Given the description of an element on the screen output the (x, y) to click on. 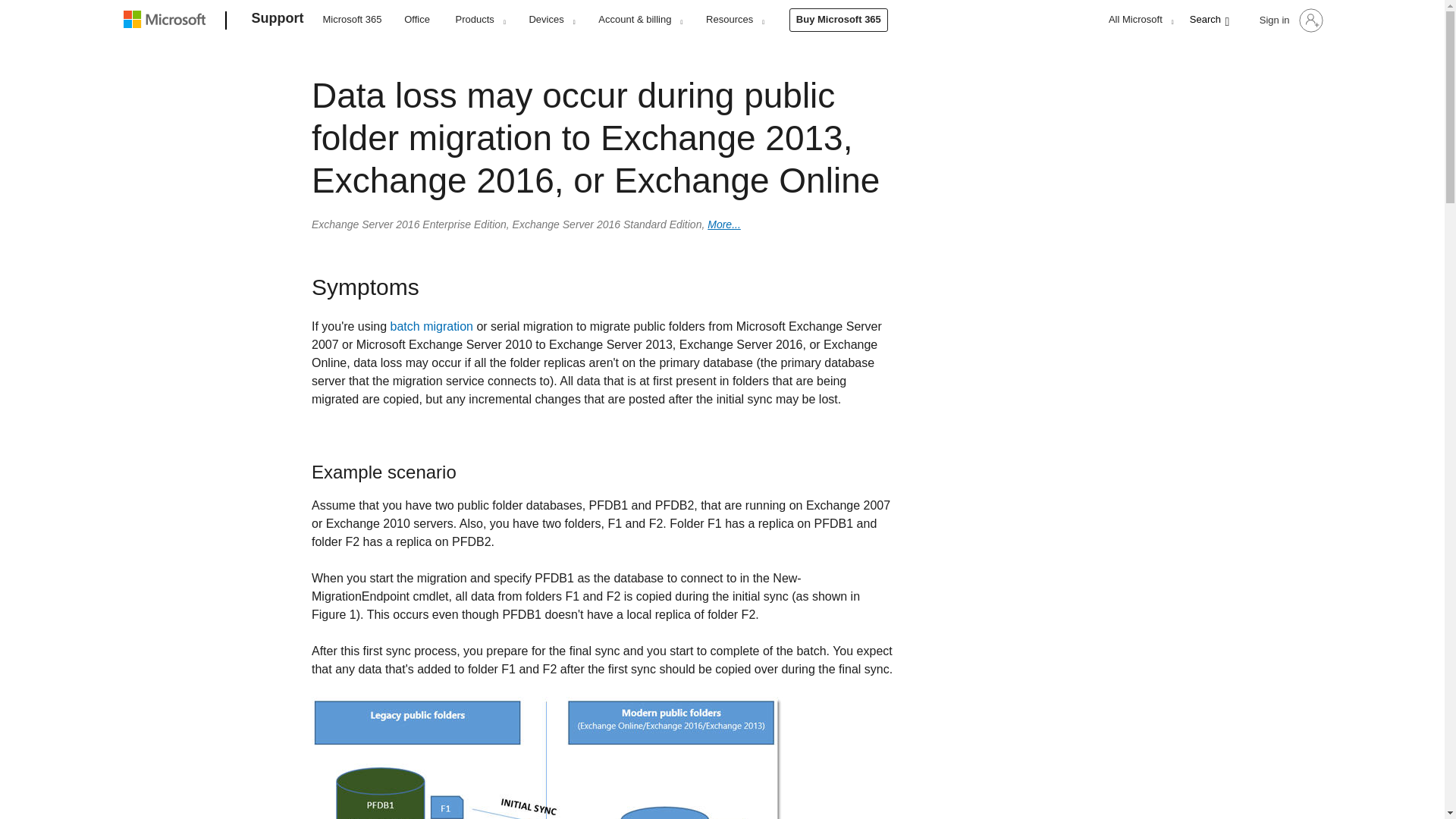
Office (416, 18)
Microsoft 365 (351, 18)
Devices (550, 18)
Resources (734, 18)
Products (480, 18)
Microsoft (167, 20)
Support (277, 20)
